Given the description of an element on the screen output the (x, y) to click on. 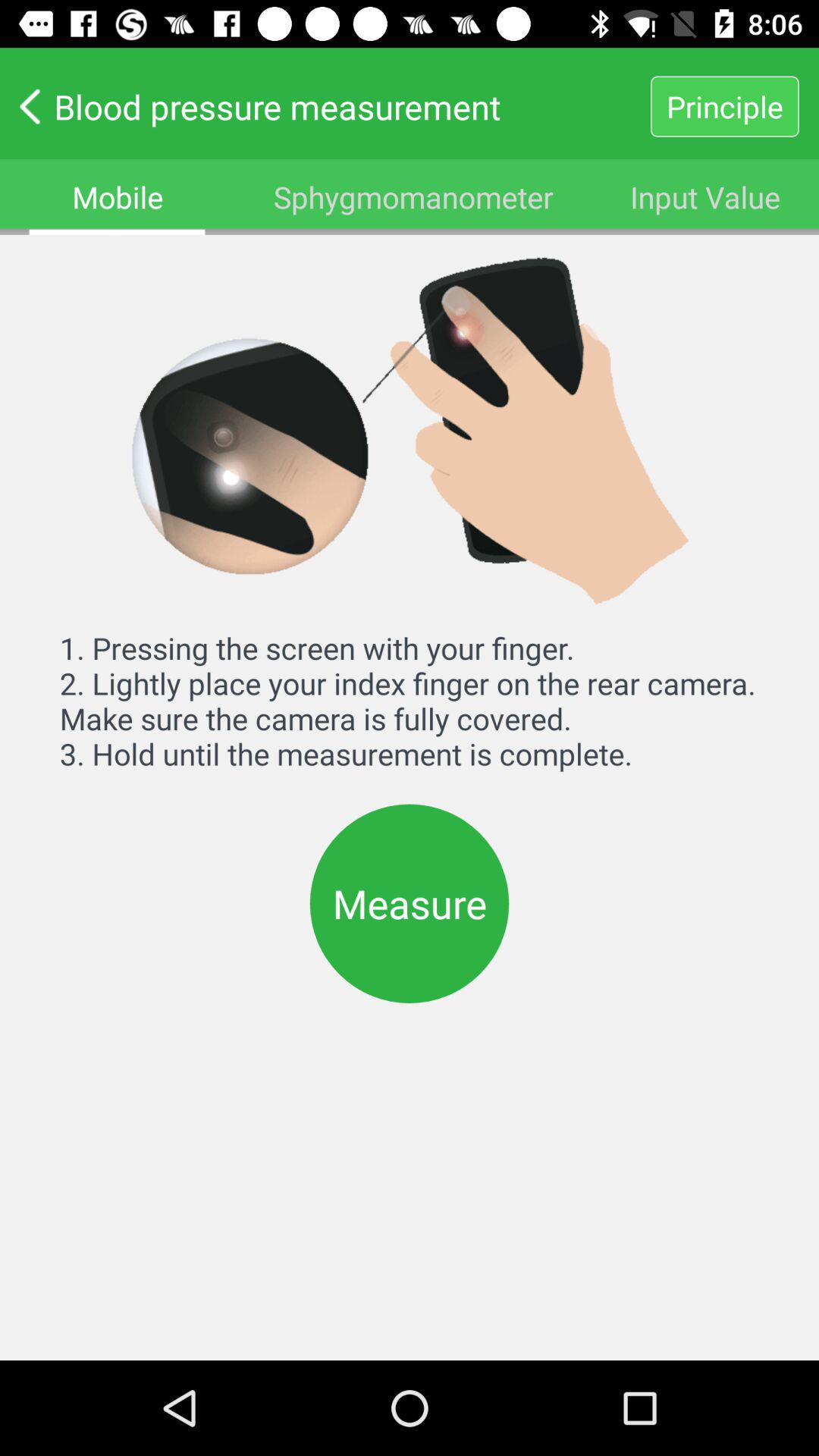
turn off measure item (409, 903)
